Given the description of an element on the screen output the (x, y) to click on. 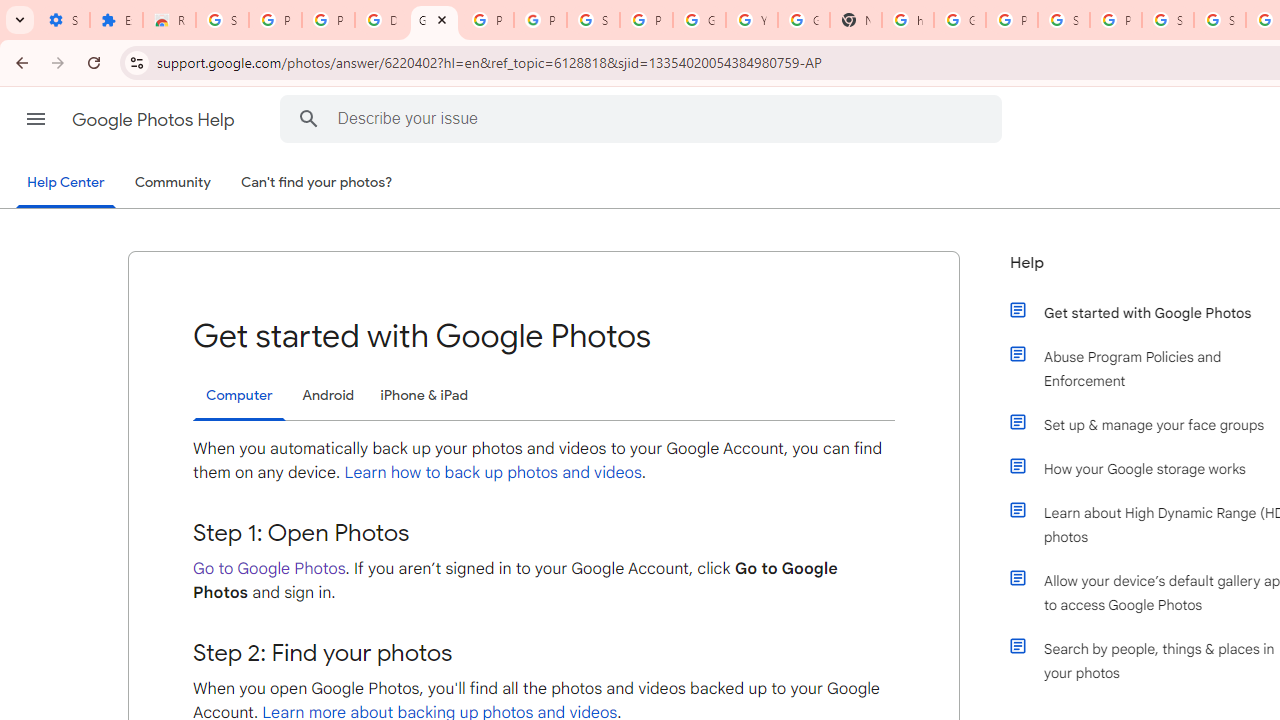
Delete photos & videos - Computer - Google Photos Help (381, 20)
Main menu (35, 119)
Go to Google Photos (269, 568)
Search Help Center (309, 118)
Reviews: Helix Fruit Jump Arcade Game (169, 20)
